Given the description of an element on the screen output the (x, y) to click on. 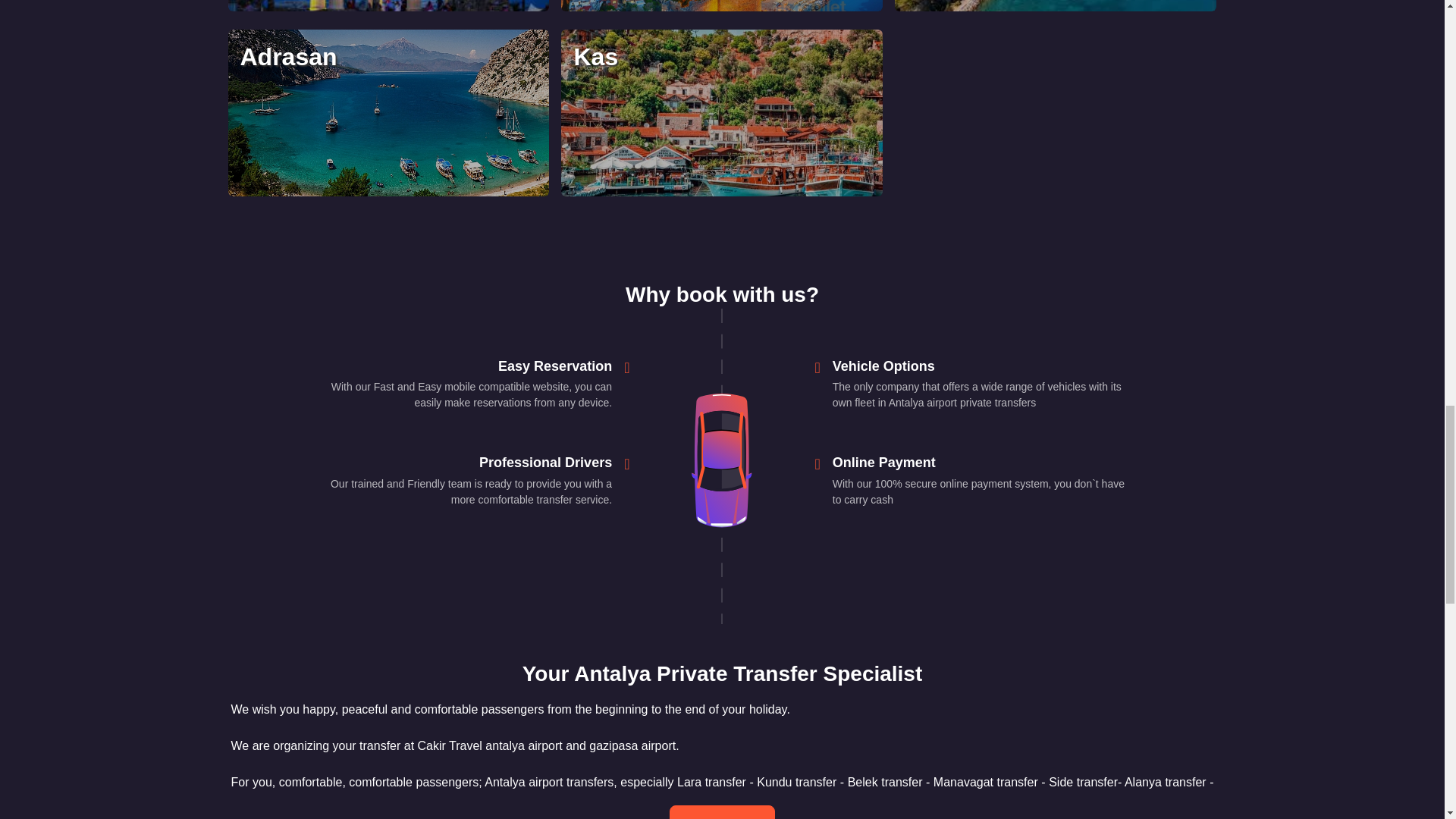
Read More (722, 812)
Kemer (1055, 5)
Alanya (721, 5)
Adrasan (387, 112)
Side (387, 5)
